Given the description of an element on the screen output the (x, y) to click on. 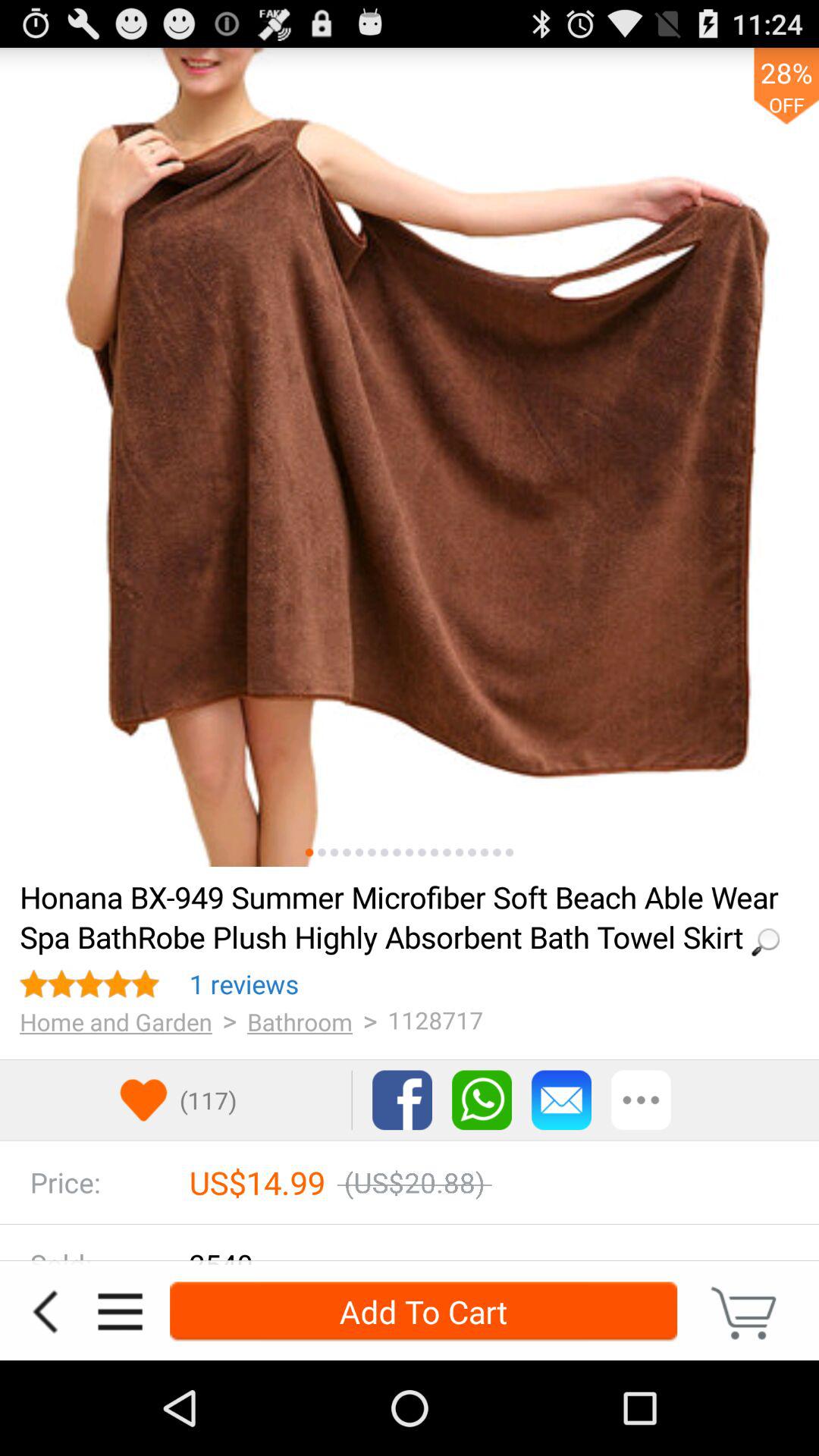
go to page (434, 852)
